Given the description of an element on the screen output the (x, y) to click on. 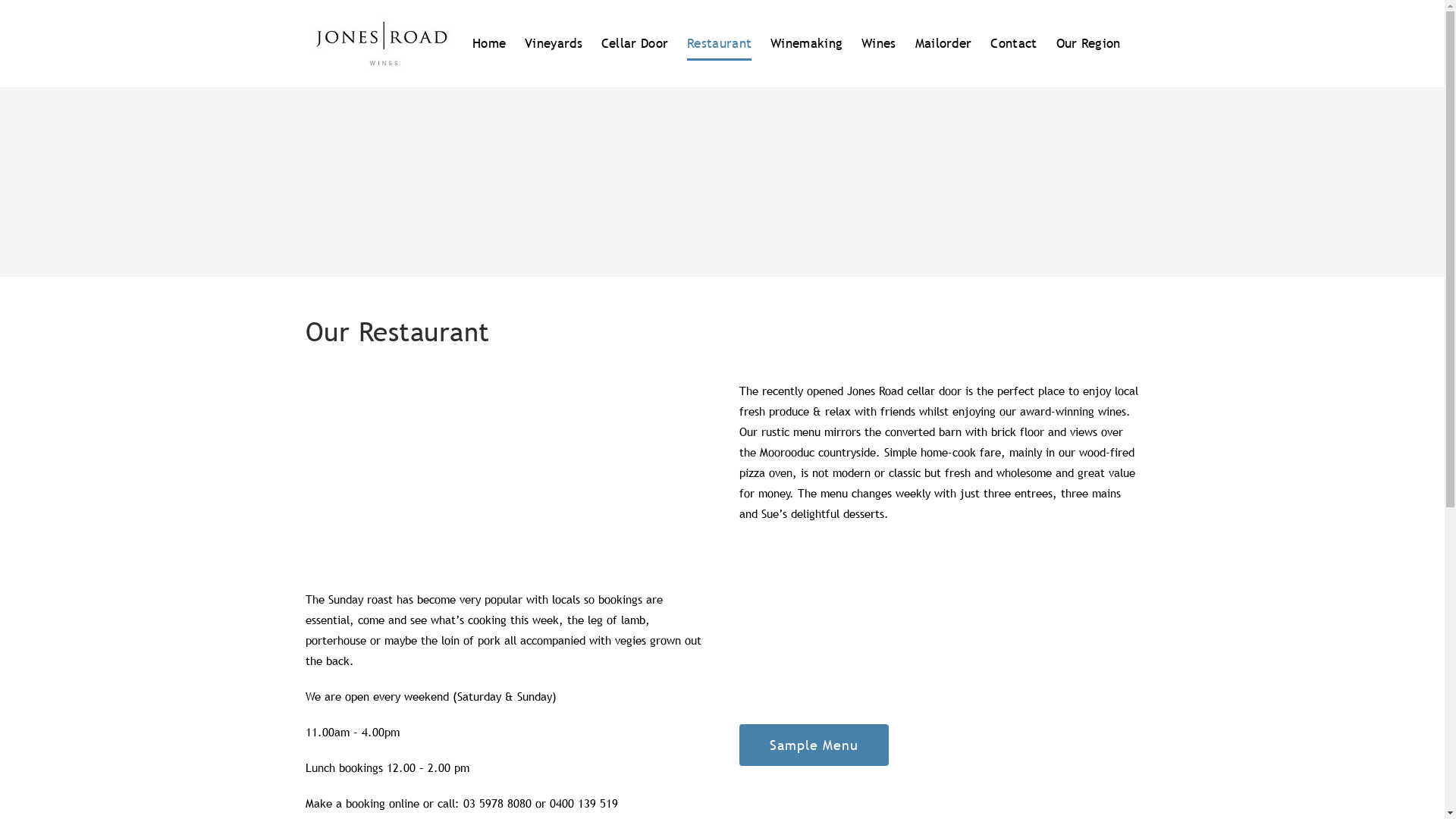
Sample Menu Element type: text (813, 744)
Cellar Door Element type: text (634, 43)
Contact Element type: text (1013, 43)
Home Element type: text (488, 43)
Our Region Element type: text (1087, 43)
Winemaking Element type: text (806, 43)
Wines Element type: text (878, 43)
Vineyards Element type: text (553, 43)
Mailorder Element type: text (943, 43)
Restaurant Element type: text (719, 43)
